Given the description of an element on the screen output the (x, y) to click on. 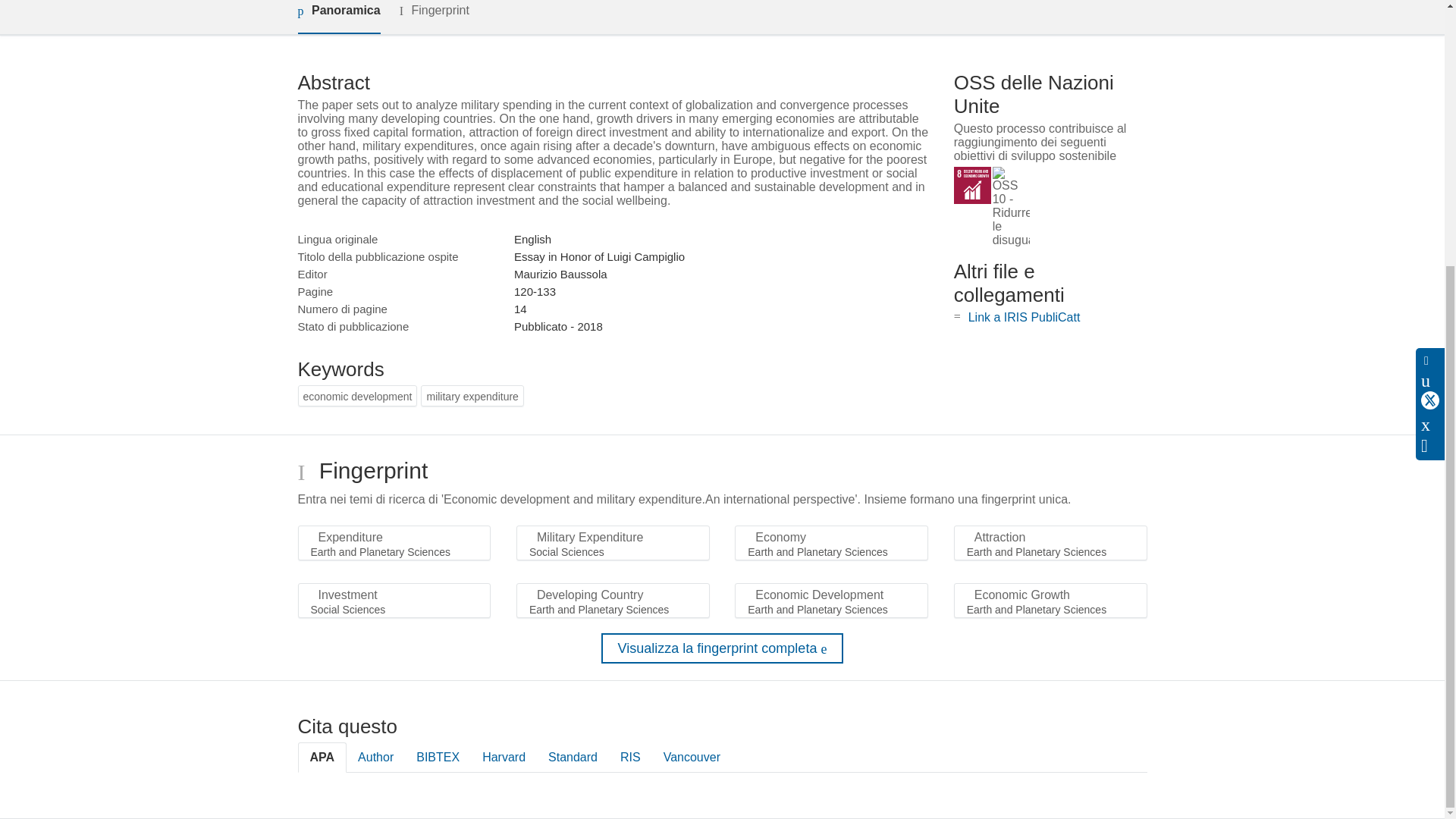
Fingerprint (433, 16)
Visualizza la fingerprint completa (722, 648)
Link a IRIS PubliCatt (1024, 317)
Panoramica (338, 17)
OSS 8 - Lavoro dignitoso e crescita economica (972, 185)
